Given the description of an element on the screen output the (x, y) to click on. 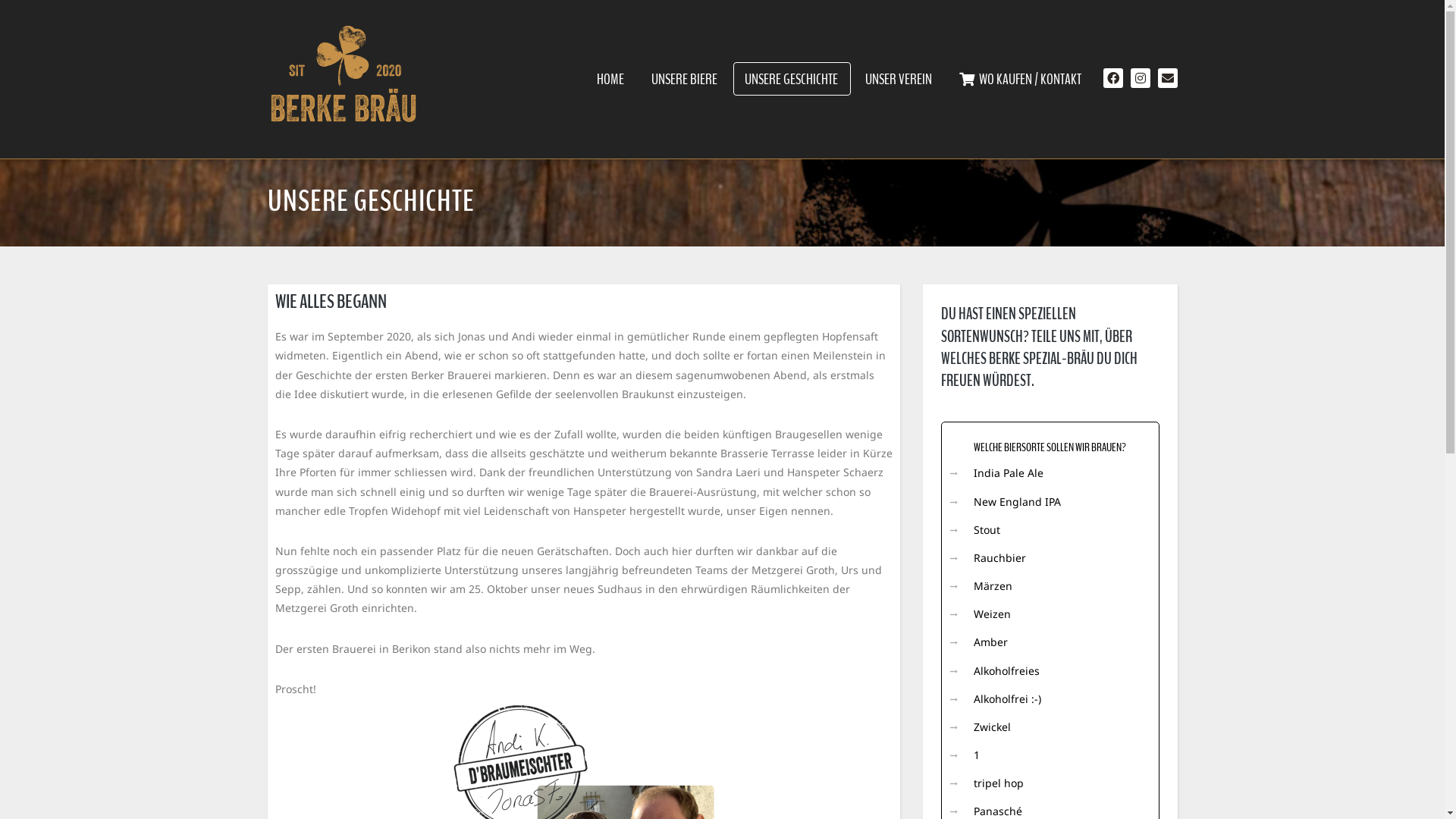
UNSER VEREIN Element type: text (898, 79)
Instagram Element type: hover (1139, 77)
Facebook Element type: hover (1112, 77)
Email Element type: hover (1166, 77)
HOME Element type: text (610, 79)
UNSERE BIERE Element type: text (684, 79)
UNSERE GESCHICHTE Element type: text (790, 79)
WO KAUFEN / KONTAKT Element type: text (1019, 79)
